Given the description of an element on the screen output the (x, y) to click on. 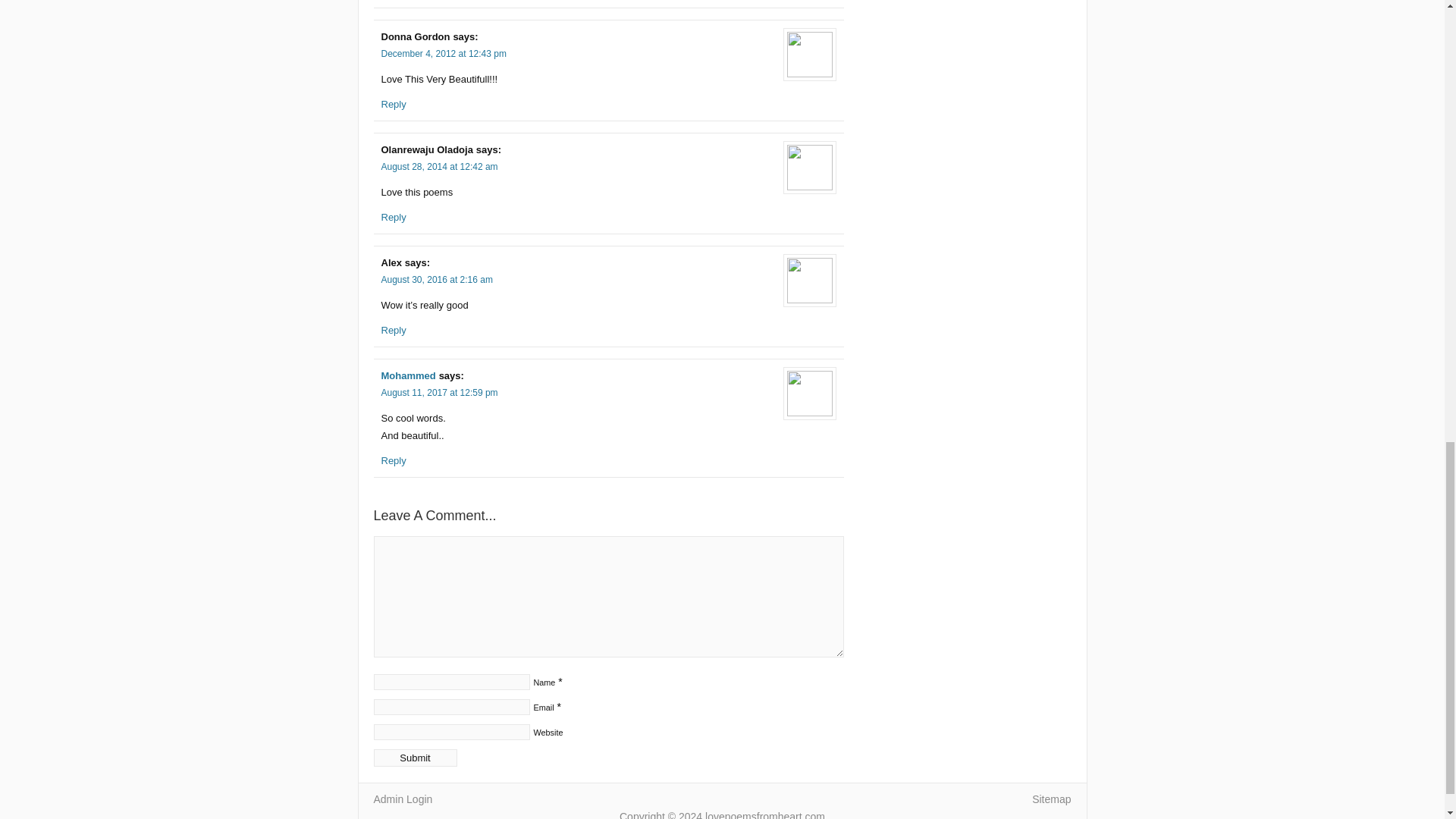
Reply (393, 103)
August 28, 2014 at 12:42 am (438, 166)
Reply (393, 216)
December 4, 2012 at 12:43 pm (442, 53)
Reply (393, 460)
Submit (414, 757)
Submit (414, 757)
Mohammed (407, 375)
August 30, 2016 at 2:16 am (436, 279)
August 11, 2017 at 12:59 pm (438, 392)
Reply (393, 329)
